Given the description of an element on the screen output the (x, y) to click on. 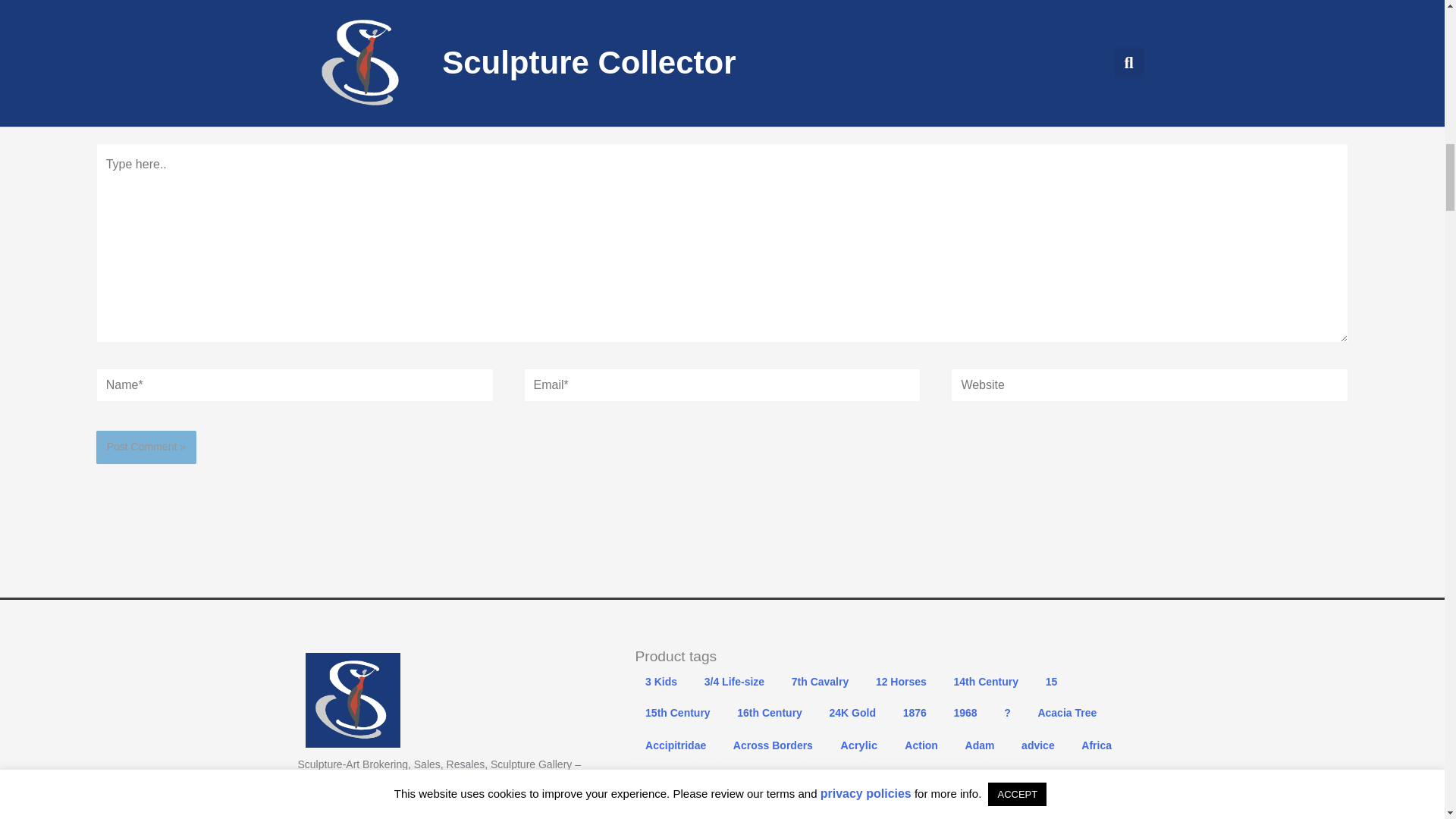
Purchasing Sculpture (1392, 3)
